Given the description of an element on the screen output the (x, y) to click on. 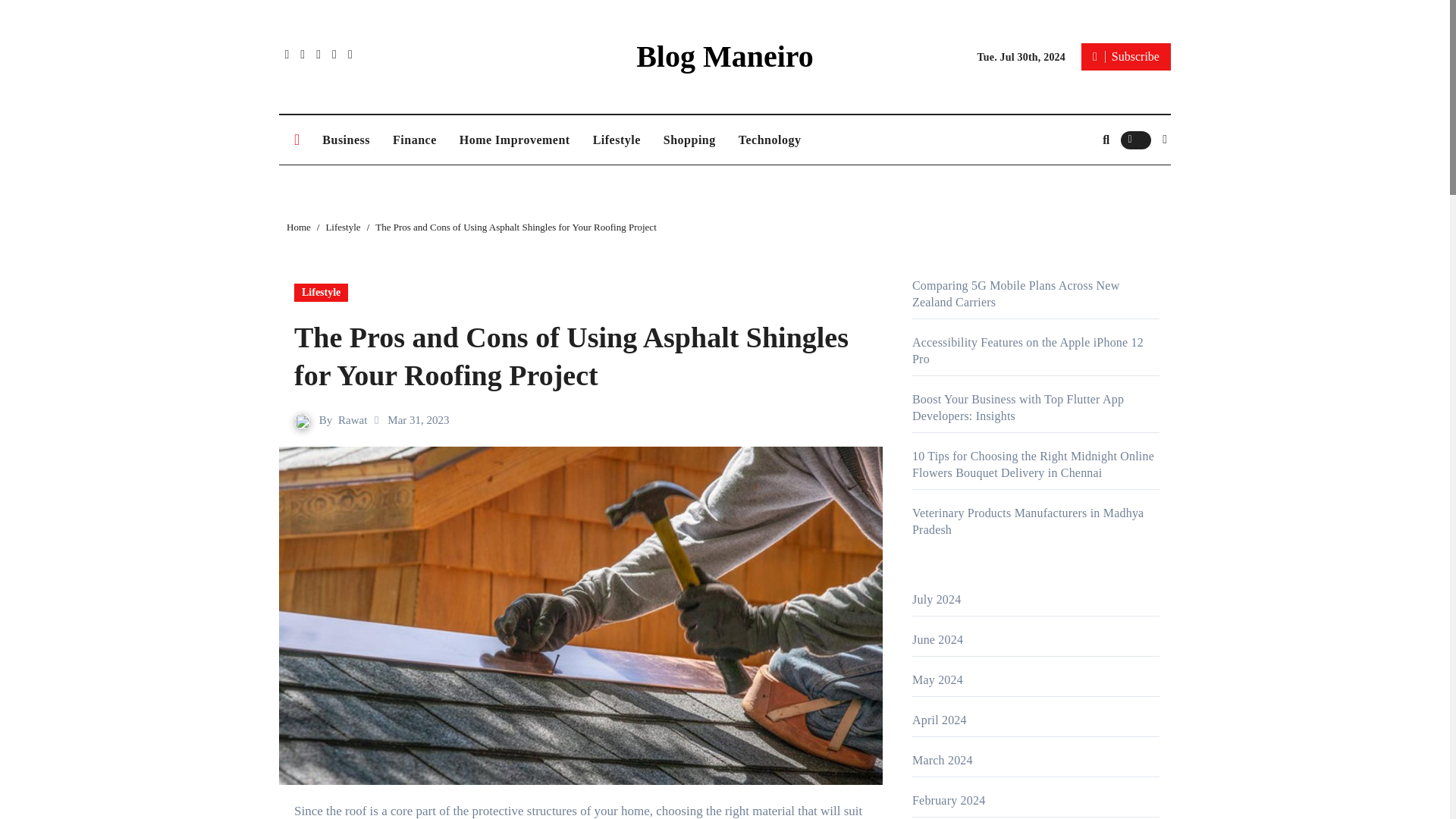
Blog Maneiro (724, 56)
Rawat (351, 419)
Shopping (689, 139)
Finance (414, 139)
Subscribe (1125, 56)
Mar 31, 2023 (417, 419)
Business (346, 139)
Finance (414, 139)
Home Improvement (514, 139)
Lifestyle (341, 226)
Lifestyle (320, 292)
Lifestyle (616, 139)
Technology (769, 139)
Home (298, 226)
